Given the description of an element on the screen output the (x, y) to click on. 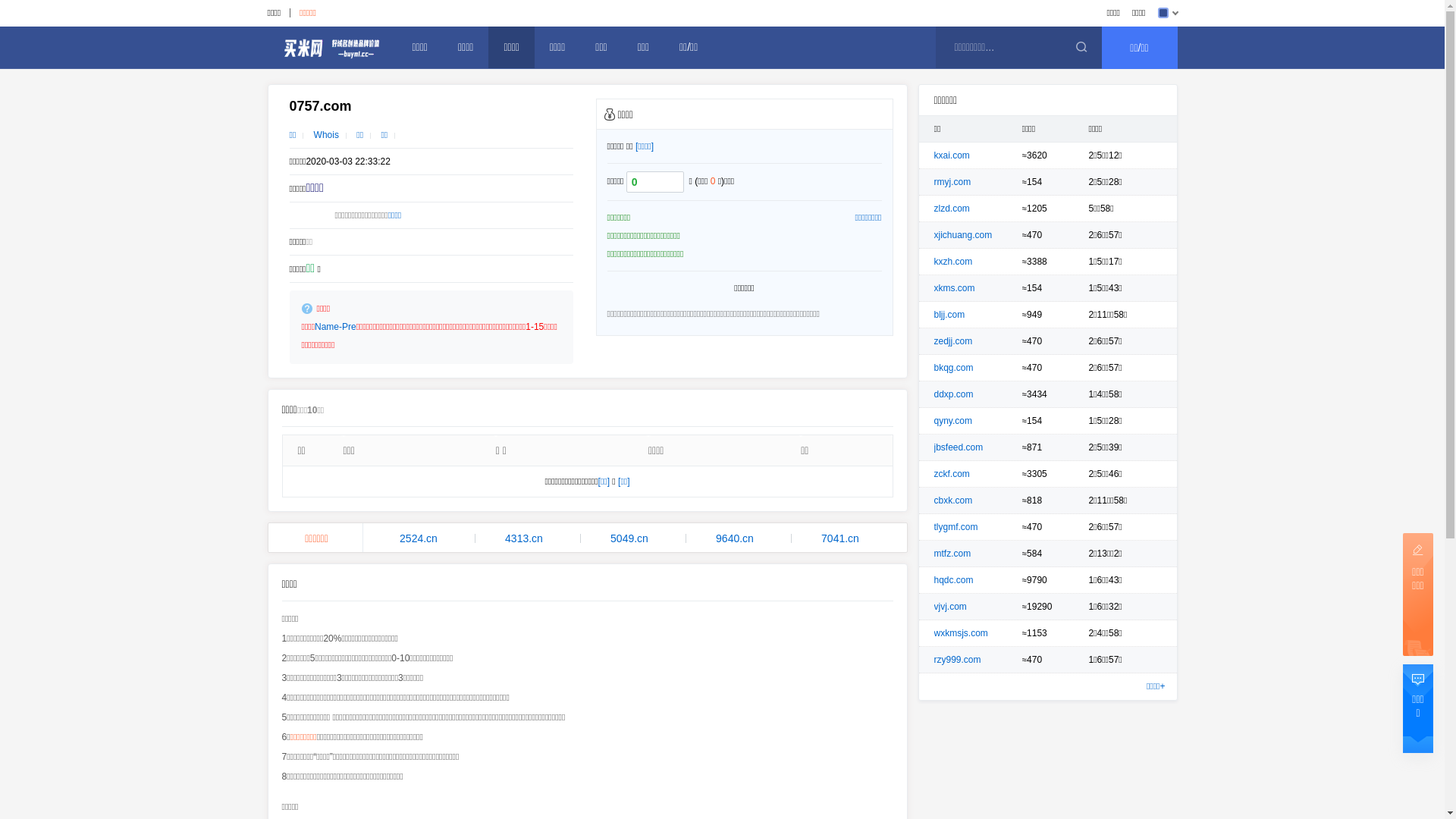
zedjj.com Element type: text (953, 340)
vjvj.com Element type: text (950, 606)
9640.cn Element type: text (734, 538)
wxkmsjs.com Element type: text (961, 632)
rmyj.com Element type: text (952, 181)
Whois Element type: text (326, 134)
ddxp.com Element type: text (953, 394)
bljj.com Element type: text (949, 314)
hqdc.com Element type: text (953, 579)
5049.cn Element type: text (628, 538)
zckf.com Element type: text (951, 473)
Name-Pre Element type: text (335, 326)
4313.cn Element type: text (524, 538)
xjichuang.com Element type: text (963, 234)
kxzh.com Element type: text (953, 261)
2524.cn Element type: text (417, 538)
qyny.com Element type: text (953, 420)
cbxk.com Element type: text (953, 500)
kxai.com Element type: text (951, 155)
rzy999.com Element type: text (957, 659)
zlzd.com Element type: text (951, 208)
jbsfeed.com Element type: text (958, 447)
mtfz.com Element type: text (952, 553)
tlygmf.com Element type: text (956, 526)
bkqg.com Element type: text (953, 367)
7041.cn Element type: text (839, 538)
xkms.com Element type: text (954, 287)
